Given the description of an element on the screen output the (x, y) to click on. 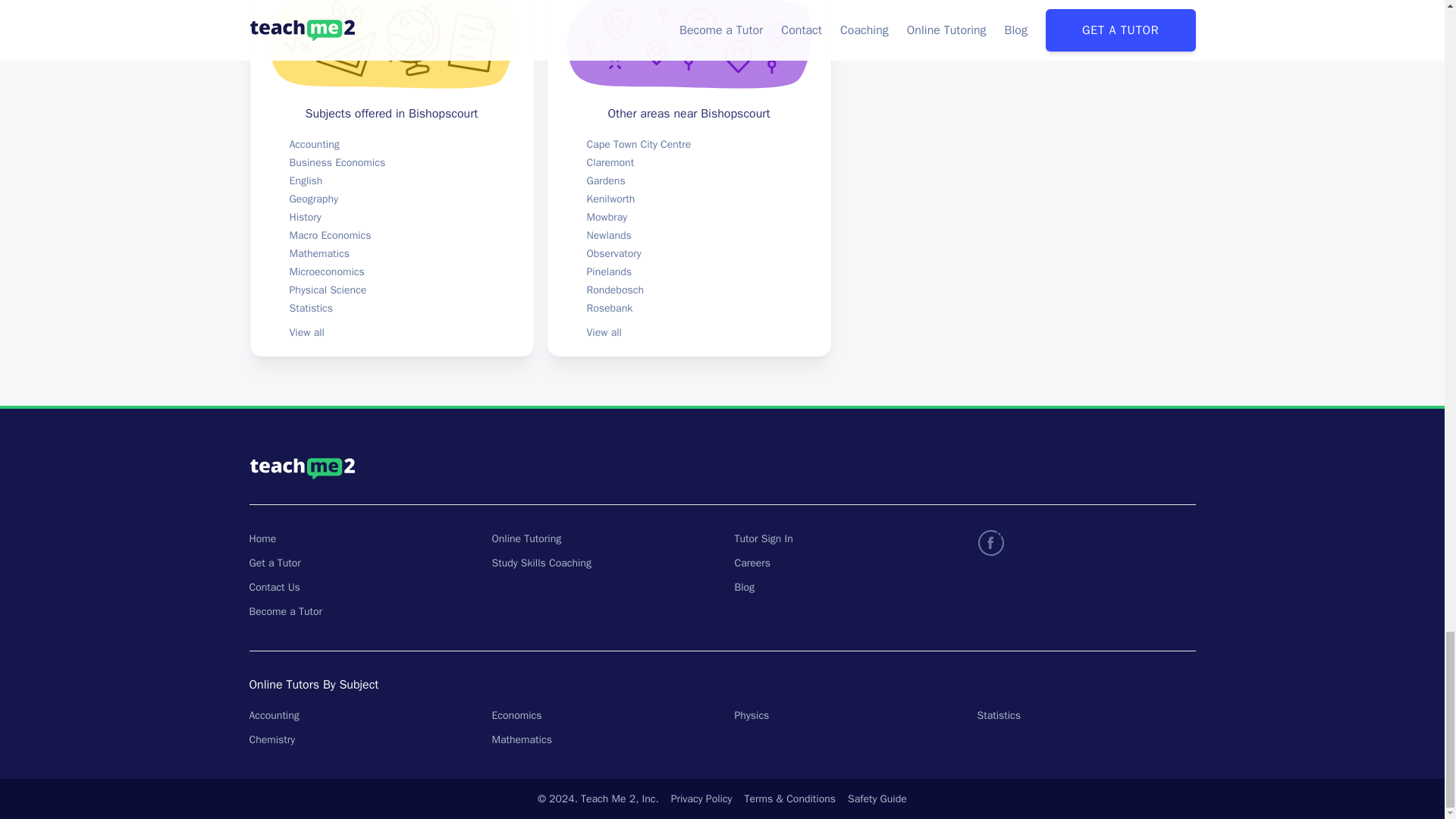
Select your locale (986, 468)
